Given the description of an element on the screen output the (x, y) to click on. 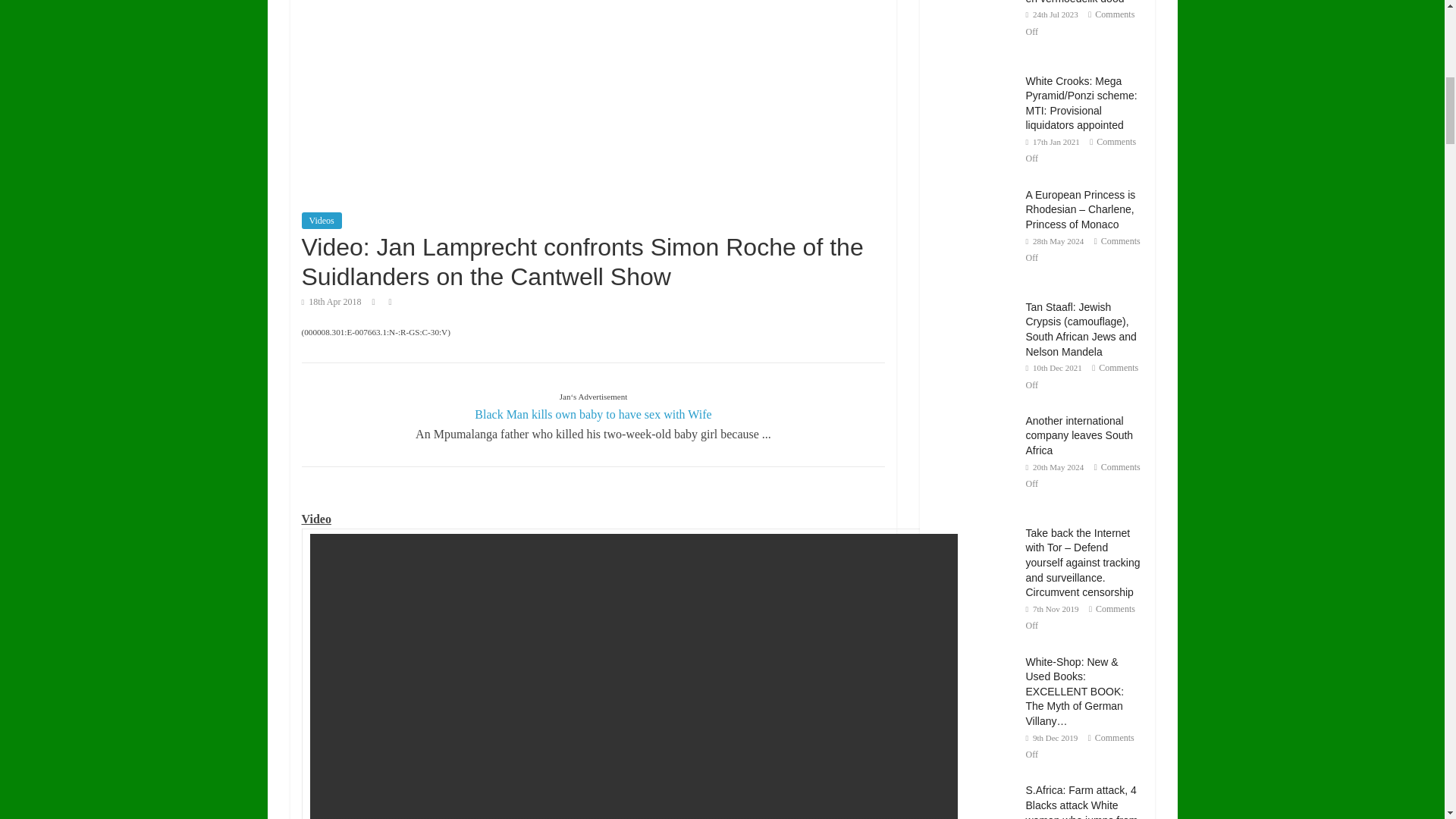
18th Apr 2018 (331, 301)
Black Man kills own baby to have sex with Wife (592, 413)
11:44 pm (331, 301)
Videos (321, 220)
